Given the description of an element on the screen output the (x, y) to click on. 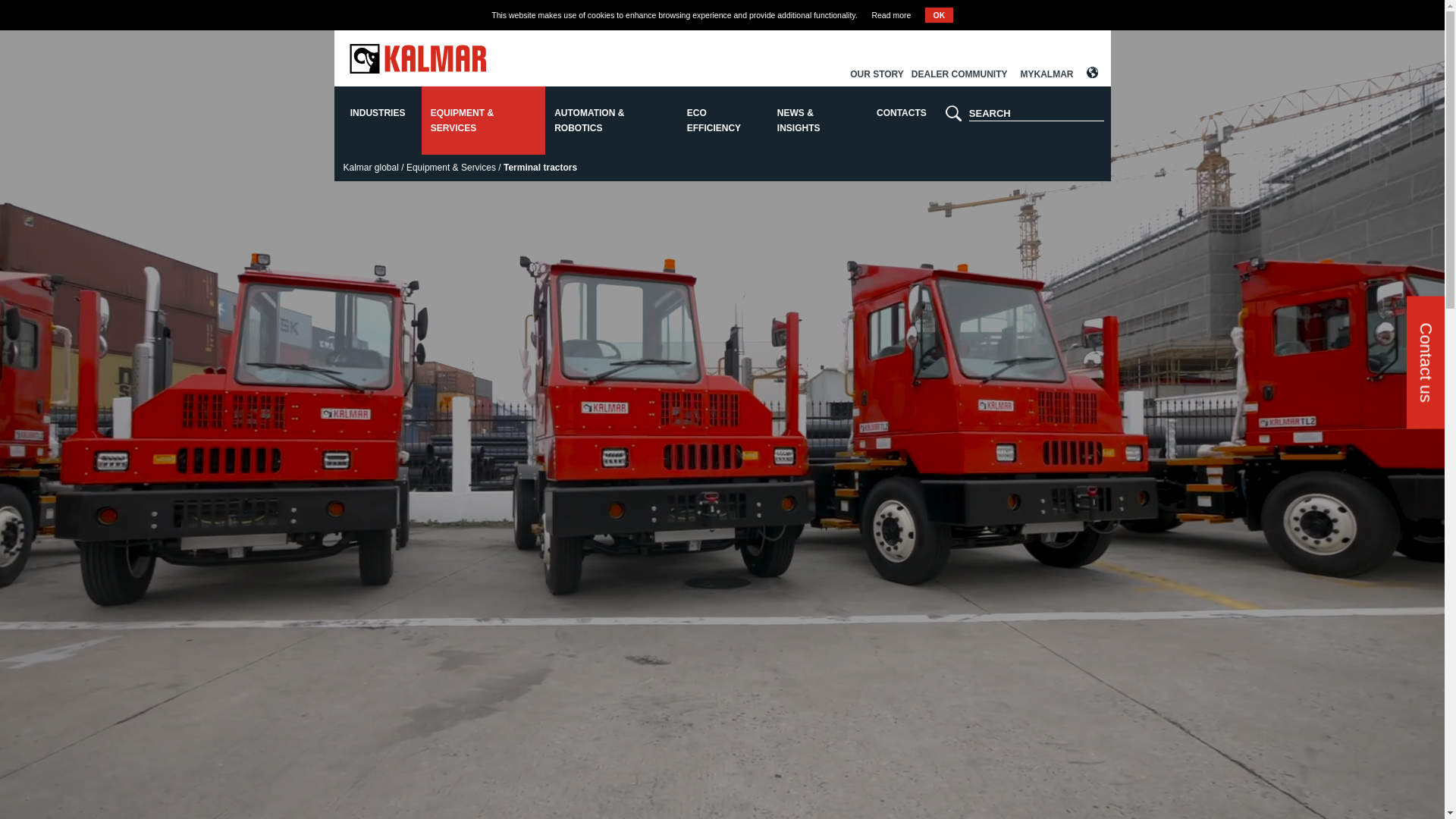
Equipment & Services Element type: text (450, 167)
MYKALMAR Element type: text (1046, 74)
DEALER COMMUNITY Element type: text (959, 74)
EQUIPMENT & SERVICES Element type: text (483, 120)
ECO EFFICIENCY Element type: text (722, 120)
CONTACTS Element type: text (901, 120)
Home Element type: hover (417, 69)
OUR STORY Element type: text (876, 74)
NEWS & INSIGHTS Element type: text (815, 120)
Kalmar global Element type: text (370, 167)
AUTOMATION & ROBOTICS Element type: text (611, 120)
INDUSTRIES Element type: text (376, 120)
OK Element type: text (939, 14)
Read more Element type: text (890, 14)
